Given the description of an element on the screen output the (x, y) to click on. 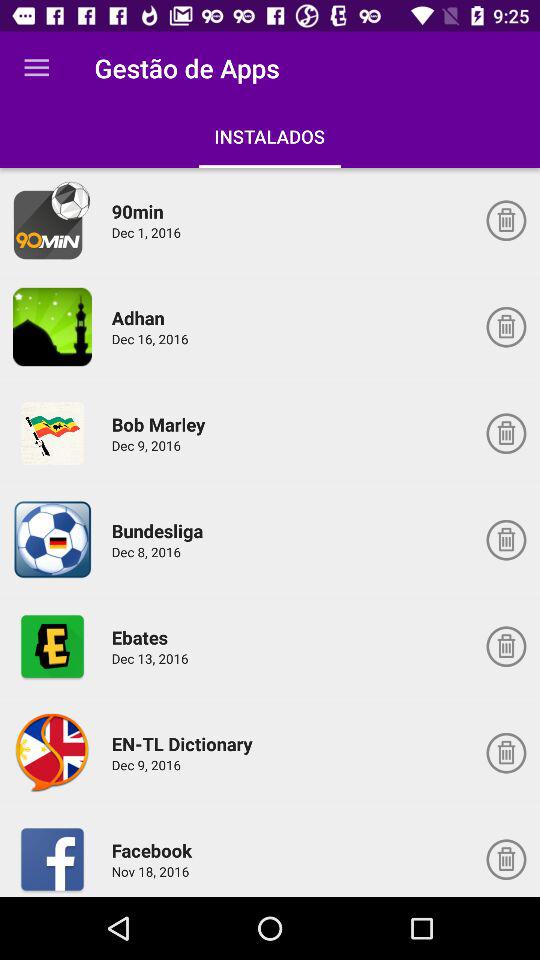
uninstall application (505, 859)
